Given the description of an element on the screen output the (x, y) to click on. 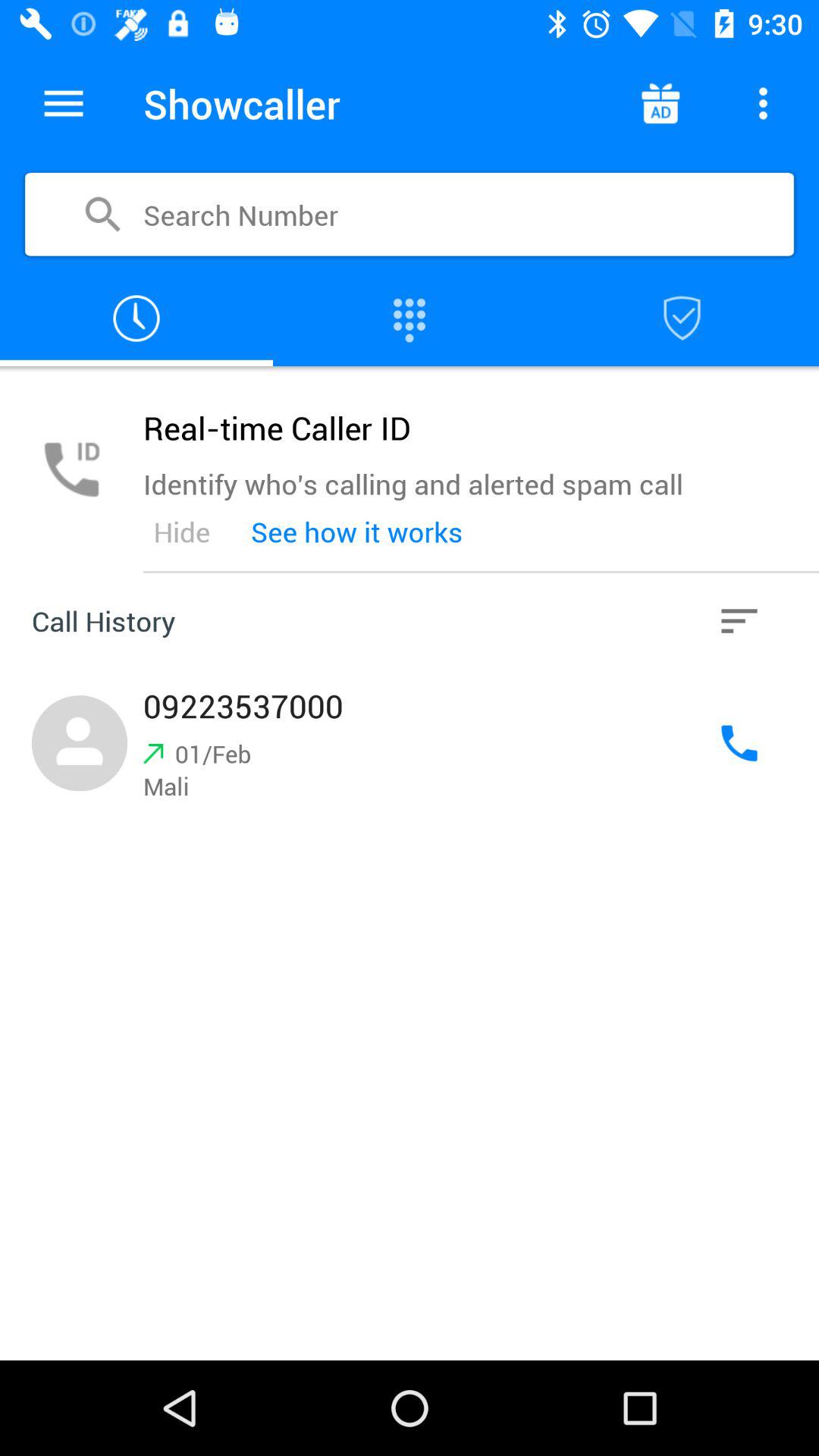
phone options menu (763, 103)
